Given the description of an element on the screen output the (x, y) to click on. 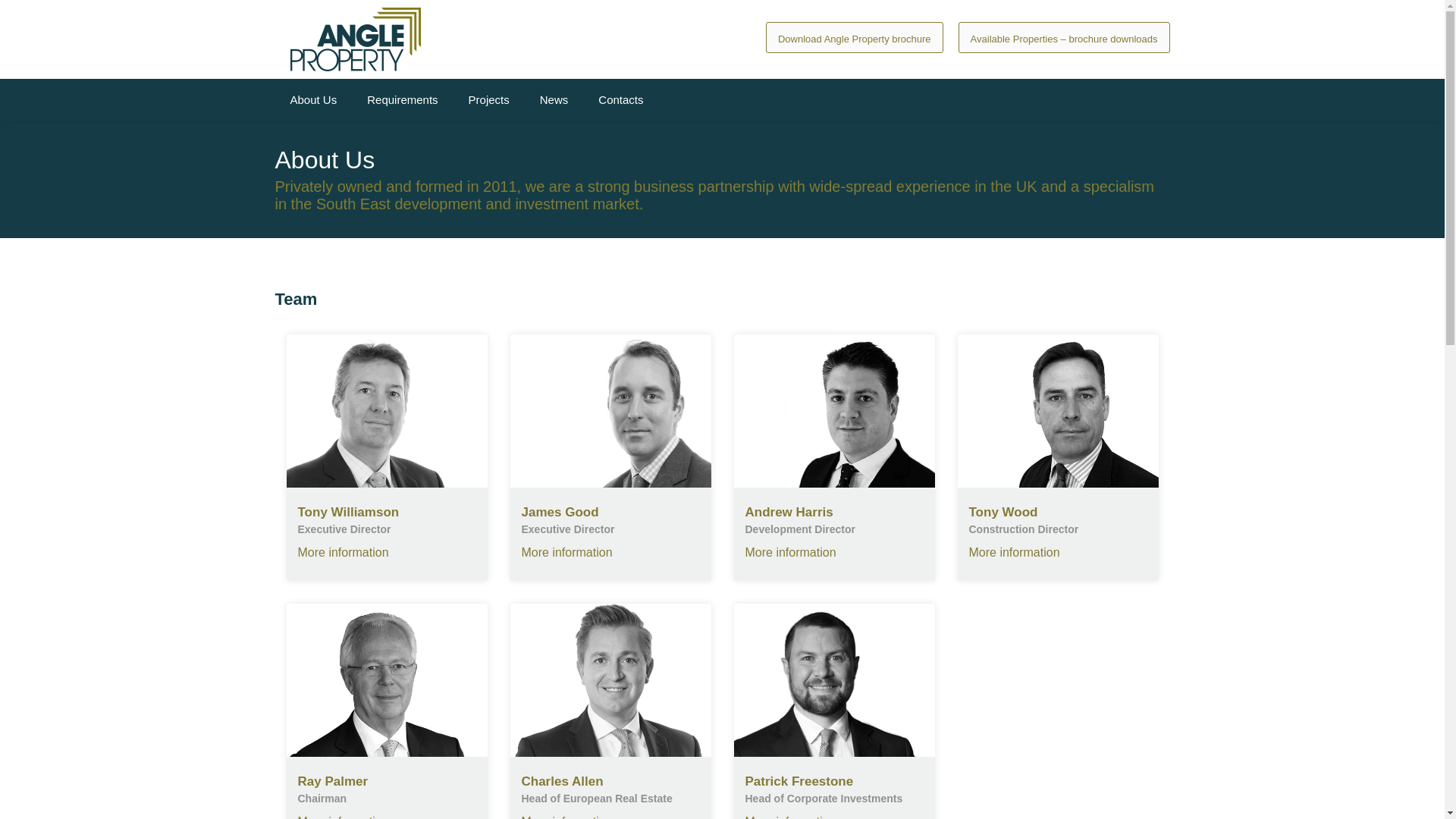
Download Angle Property brochure (854, 37)
Projects (488, 99)
More information (342, 552)
Requirements (402, 99)
More information (1014, 552)
More information (342, 816)
More information (789, 552)
More information (566, 552)
News (553, 99)
About Us (313, 99)
Contacts (620, 99)
